Given the description of an element on the screen output the (x, y) to click on. 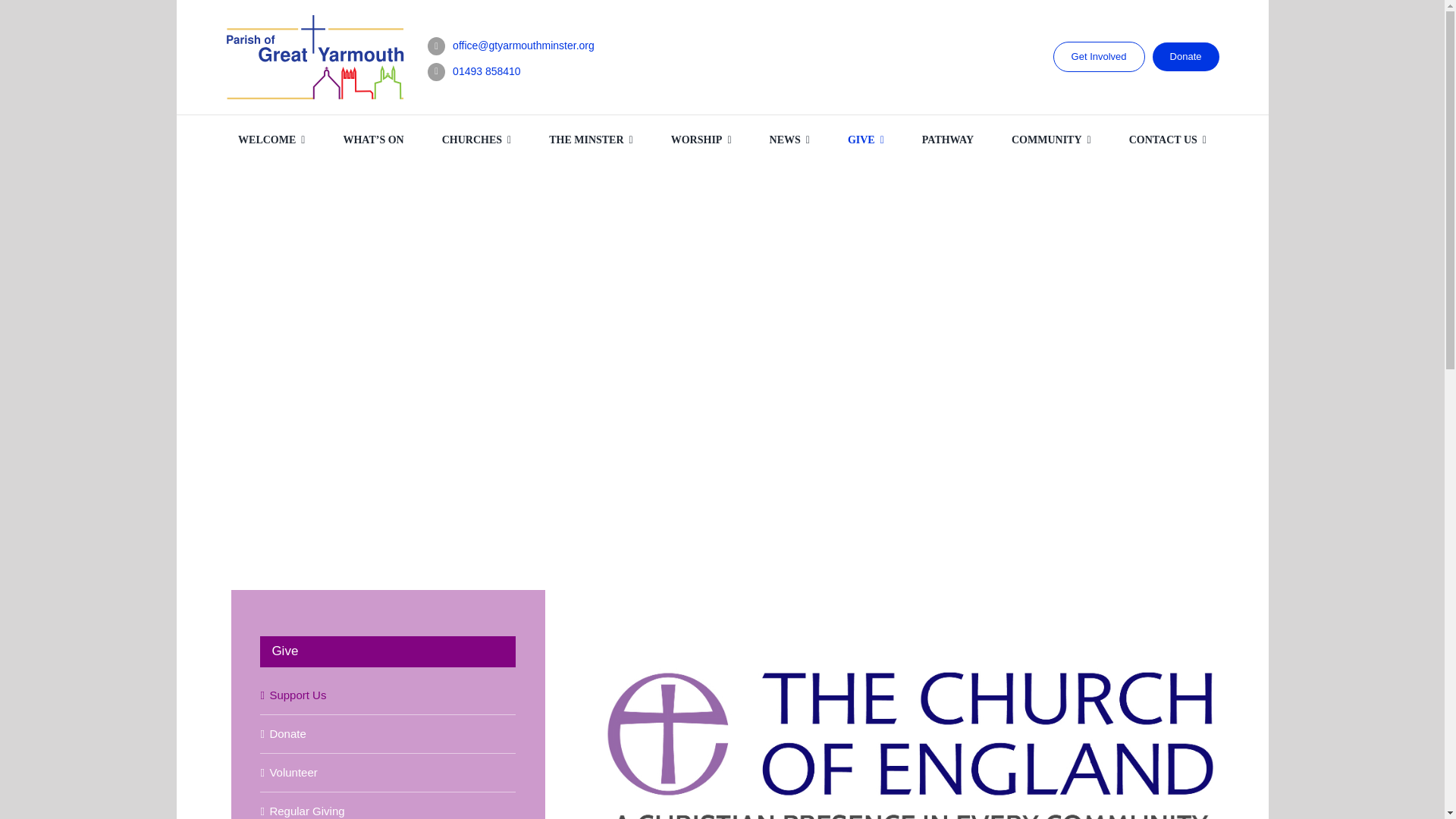
Donate (1186, 56)
Get Involved (1098, 56)
01493 858410 (486, 70)
